Given the description of an element on the screen output the (x, y) to click on. 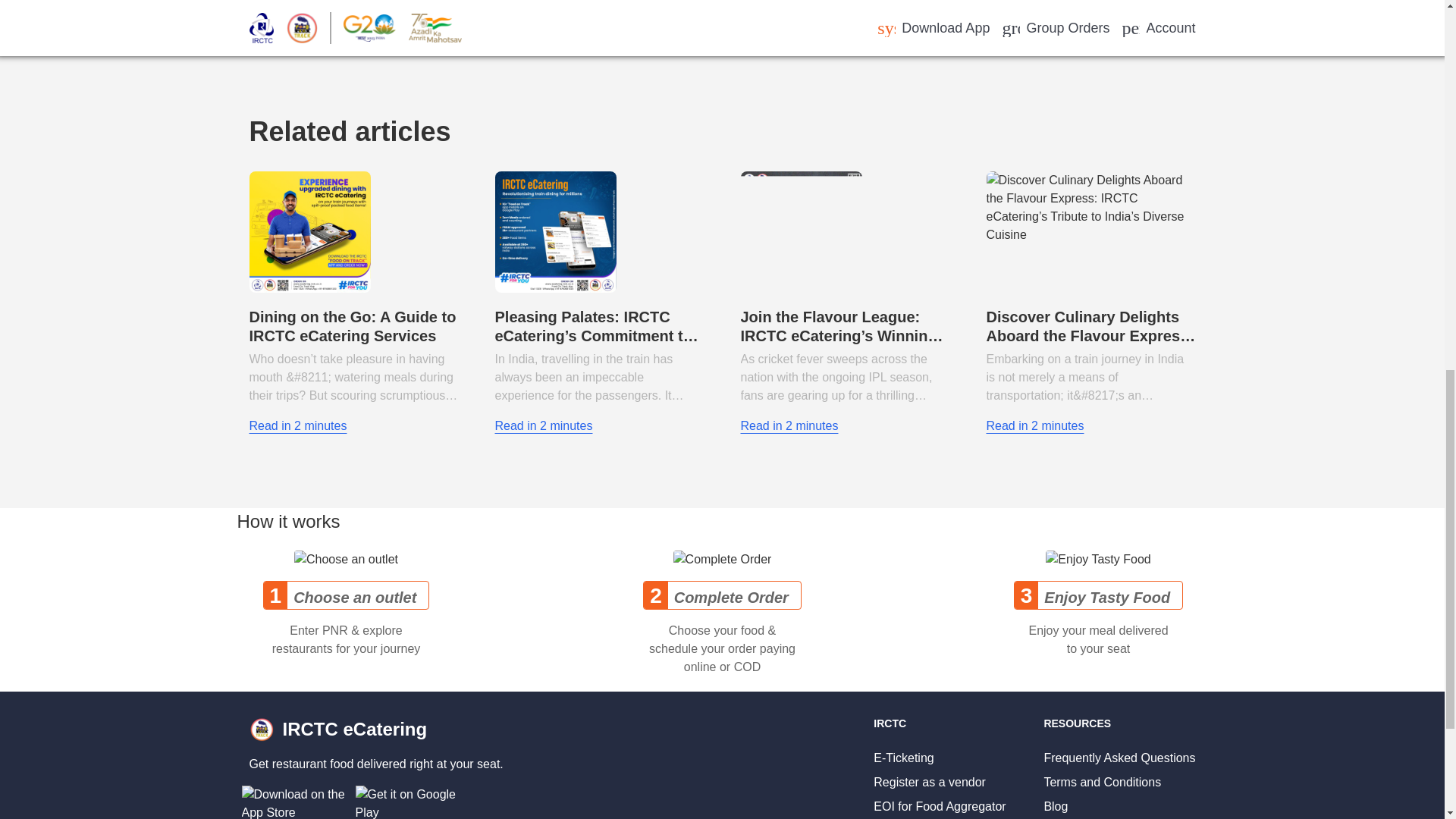
Terms and Conditions (1101, 781)
EOI for Food Aggregator (939, 806)
Frequently Asked Questions (1119, 757)
Read in 2 minutes (788, 425)
IRCTC eCatering (375, 728)
Register as a vendor (929, 781)
Read in 2 minutes (1034, 425)
Dining on the Go: A Guide to IRCTC eCatering Services (351, 325)
Read in 2 minutes (543, 425)
Blog (1055, 806)
